Given the description of an element on the screen output the (x, y) to click on. 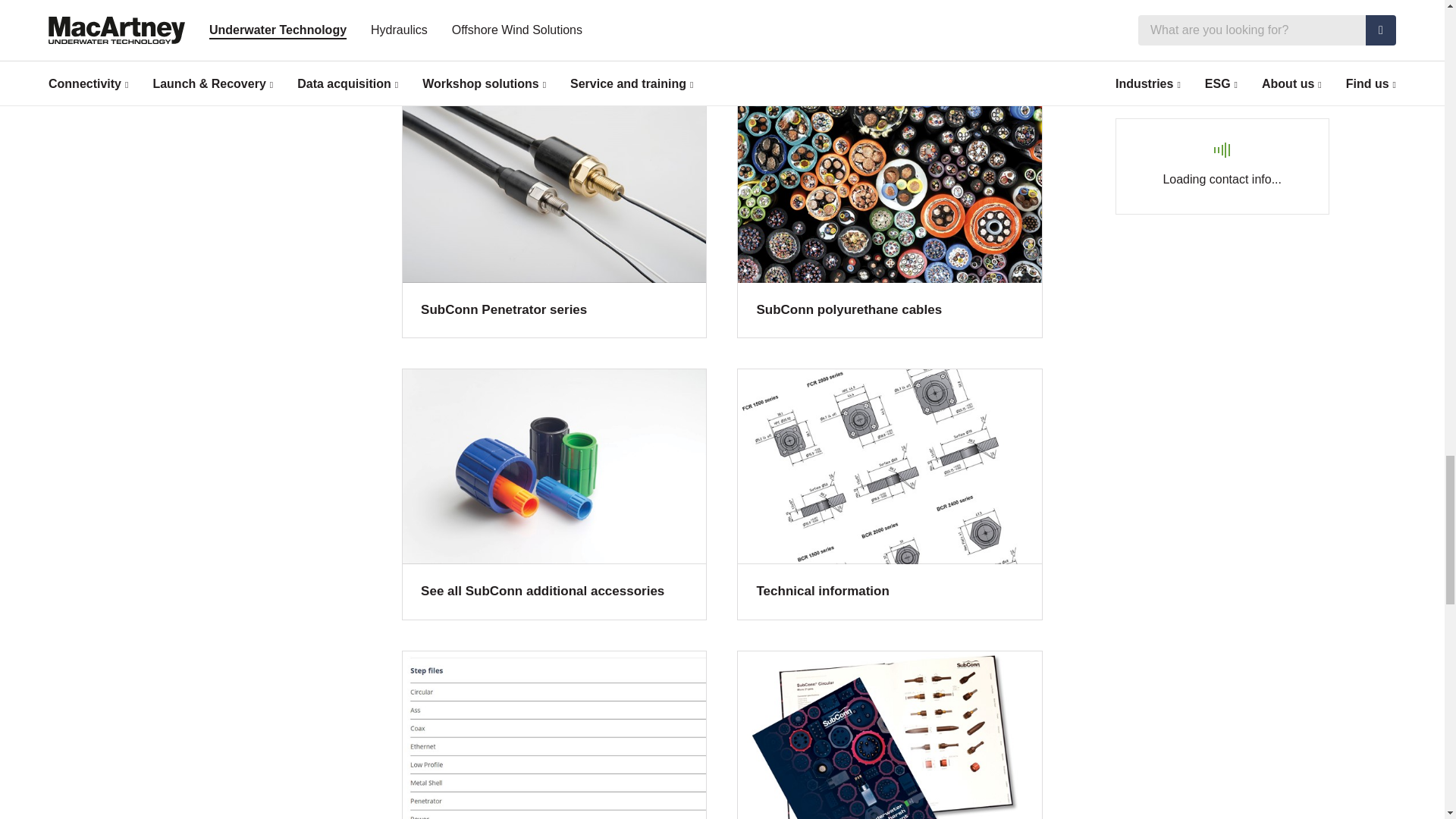
SubConn Penetrator series (553, 212)
SubConn polyurethane cables (889, 212)
SubConn Nano series (553, 28)
SubConn Specials (889, 28)
